Given the description of an element on the screen output the (x, y) to click on. 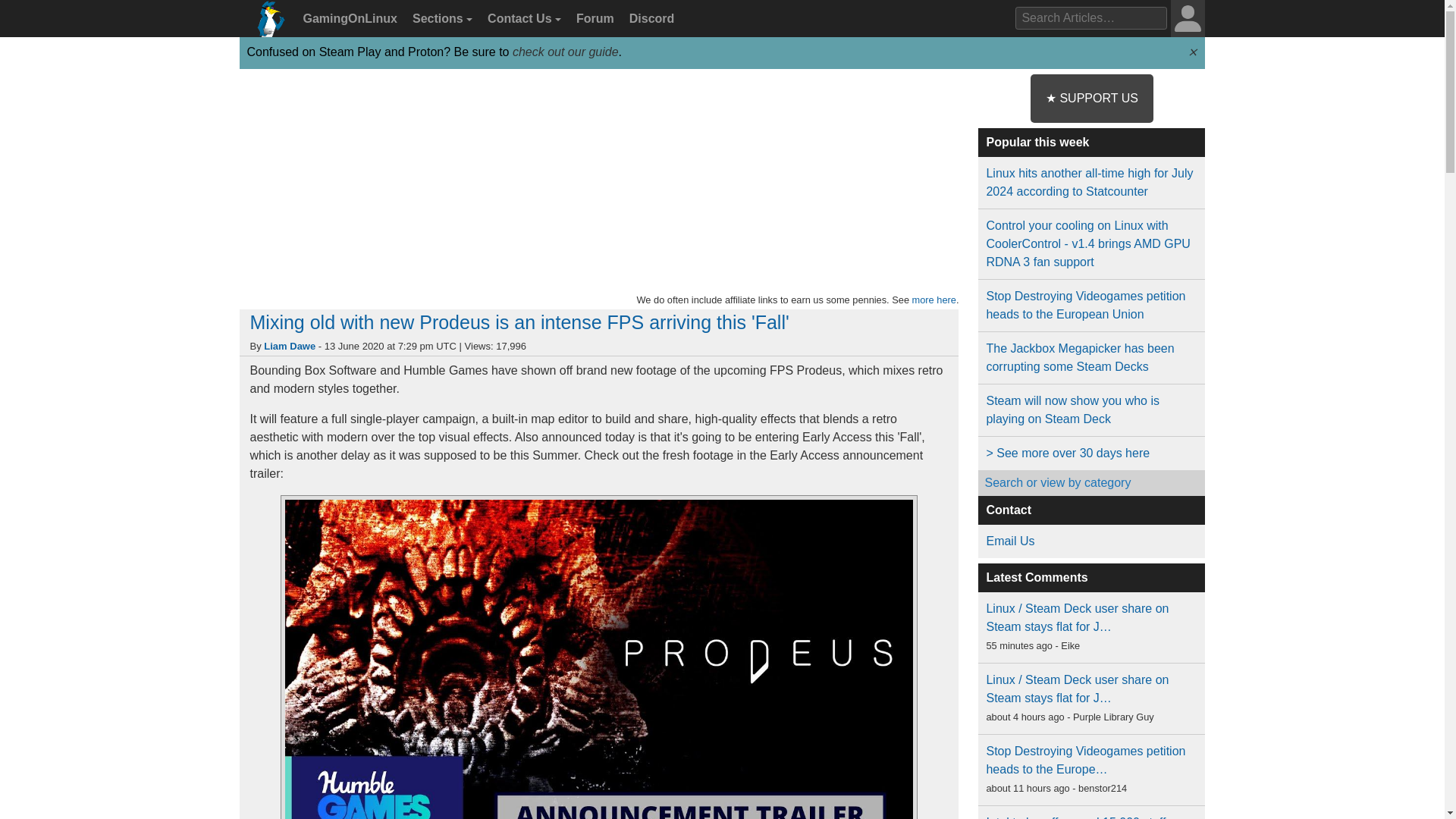
Sections (440, 19)
GamingOnLinux (348, 19)
Discord (649, 19)
GamingOnLinux Home (267, 23)
Forum (593, 19)
check out our guide (565, 51)
Contact Us (522, 19)
